Given the description of an element on the screen output the (x, y) to click on. 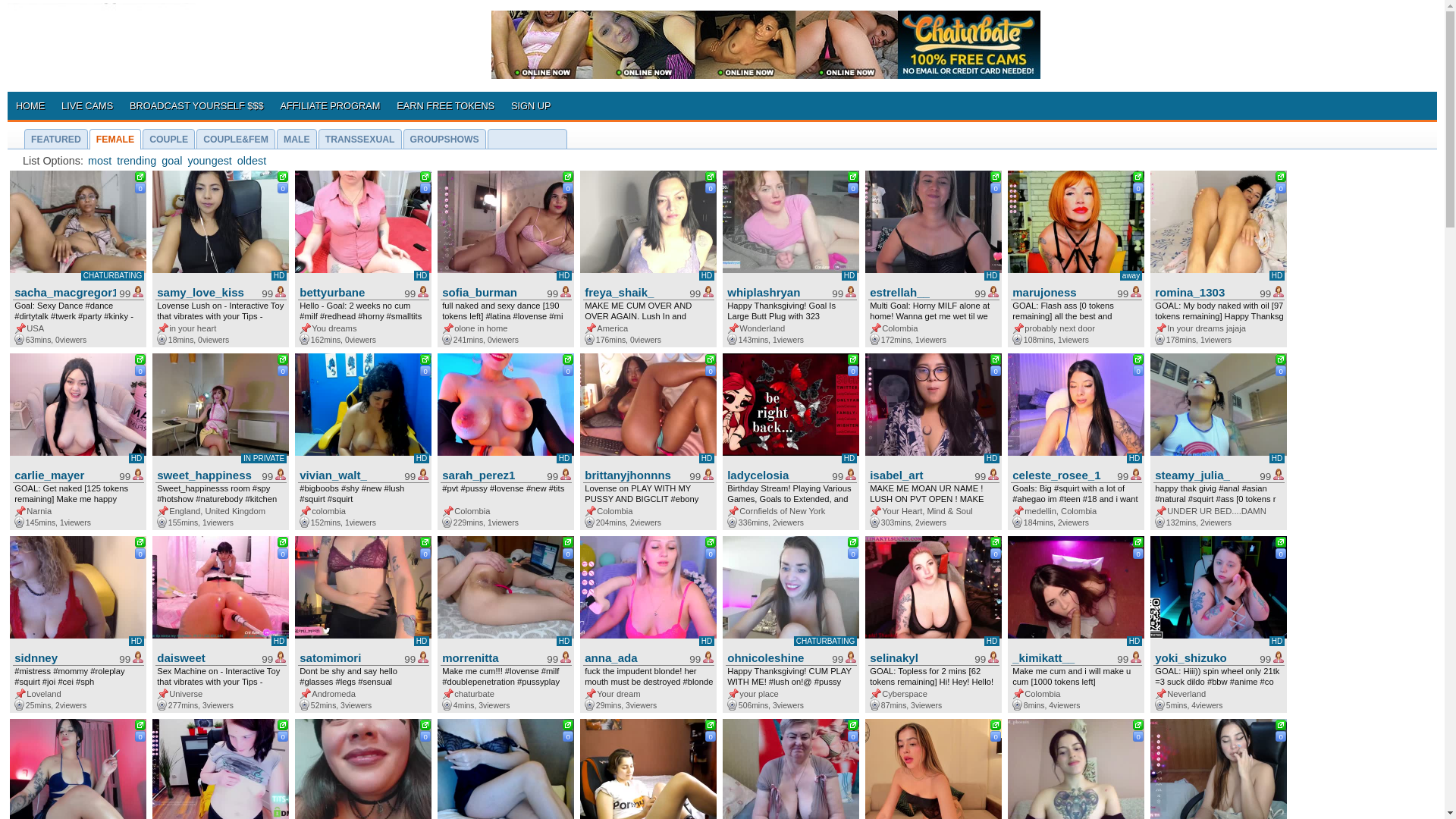
FEMALE Element type: text (115, 137)
morrenitta Element type: text (490, 655)
Open amydavis_ in a popup window Element type: hover (997, 725)
marujoness Element type: text (1060, 290)
     Element type: text (1282, 175)
SIGN UP Element type: text (530, 104)
Open sweet_happiness in a popup window Element type: hover (284, 360)
Open romina_1303 in a popup window Element type: hover (1282, 177)
Open freya_shaik_ in a popup window Element type: hover (711, 177)
LIVE CAMS Element type: text (87, 104)
TRANSSEXUAL Element type: text (359, 137)
Open isabel_art in a popup window Element type: hover (997, 360)
GROUPSHOWS Element type: text (444, 137)
     Element type: text (426, 724)
Open sacha_macgregor1 in a popup window Element type: hover (141, 177)
COUPLE&FEM Element type: text (235, 137)
Open queen4565 in a popup window Element type: hover (711, 725)
     Element type: text (1282, 541)
     Element type: text (141, 541)
AFFILIATE PROGRAM Element type: text (330, 104)
Open _alice_d in a popup window Element type: hover (141, 725)
satomimori Element type: text (347, 655)
Open bettyurbane in a popup window Element type: hover (426, 177)
Open marujoness in a popup window Element type: hover (1139, 177)
COUPLE Element type: text (168, 137)
     Element type: text (141, 724)
Open _kimikatt__ in a popup window Element type: hover (1139, 542)
isabel_art Element type: text (918, 473)
freya_shaik_ Element type: text (633, 290)
Open carlie_mayer in a popup window Element type: hover (141, 360)
Open phoenixx_x in a popup window Element type: hover (1139, 725)
FEATURED Element type: text (55, 137)
ladycelosia Element type: text (775, 473)
     Element type: text (284, 724)
     Element type: text (854, 175)
     Element type: text (997, 175)
BROADCAST YOURSELF $$$ Element type: text (196, 104)
Open selinakyl in a popup window Element type: hover (997, 542)
     Element type: text (141, 175)
Open brittanyjhonnns in a popup window Element type: hover (711, 360)
selinakyl Element type: text (918, 655)
ohnicoleshine Element type: text (775, 655)
     Element type: text (426, 175)
Open celeste_rosee_1 in a popup window Element type: hover (1139, 360)
     Element type: text (711, 358)
Open ladycelosia in a popup window Element type: hover (854, 360)
sweet_happiness Element type: text (205, 473)
Open lady_sexyandbeauty in a popup window Element type: hover (569, 725)
youngest Element type: text (209, 159)
     Element type: text (426, 541)
sofia_burman Element type: text (490, 290)
_kimikatt__ Element type: text (1060, 655)
     Element type: text (284, 175)
EARN FREE TOKENS Element type: text (445, 104)
goal Element type: text (171, 159)
     Element type: text (711, 175)
yoki_shizuko Element type: text (1203, 655)
     Element type: text (1282, 724)
sarah_perez1 Element type: text (490, 473)
romina_1303 Element type: text (1203, 290)
     Element type: text (569, 724)
     Element type: text (569, 541)
Open sandra_lys in a popup window Element type: hover (284, 725)
whiplashryan Element type: text (775, 290)
Open sofia_burman in a popup window Element type: hover (569, 177)
     Element type: text (711, 541)
     Element type: text (1139, 724)
Open morrenitta in a popup window Element type: hover (569, 542)
Open honestysummers in a popup window Element type: hover (854, 725)
Open samy_love_kiss in a popup window Element type: hover (284, 177)
     Element type: text (426, 358)
Open vivian_walt_ in a popup window Element type: hover (426, 360)
     Element type: text (569, 175)
oldest Element type: text (251, 159)
     Element type: text (284, 358)
steamy_julia_ Element type: text (1203, 473)
HOME Element type: text (30, 104)
trending Element type: text (136, 159)
     Element type: text (284, 541)
     Element type: text (711, 724)
most Element type: text (99, 159)
Open sidnney in a popup window Element type: hover (141, 542)
Open whiplashryan in a popup window Element type: hover (854, 177)
     Element type: text (854, 724)
     Element type: text (1139, 541)
celeste_rosee_1 Element type: text (1060, 473)
     Element type: text (854, 358)
daisweet Element type: text (205, 655)
sacha_macgregor1 Element type: text (62, 290)
Open miss_evoleth2 in a popup window Element type: hover (426, 725)
     Element type: text (997, 358)
     Element type: text (1139, 175)
     Element type: text (997, 541)
Open daisweet in a popup window Element type: hover (284, 542)
Open annadolll in a popup window Element type: hover (1282, 725)
Open sarah_perez1 in a popup window Element type: hover (569, 360)
sidnney Element type: text (62, 655)
MALE Element type: text (296, 137)
Open ohnicoleshine in a popup window Element type: hover (854, 542)
Open anna_ada in a popup window Element type: hover (711, 542)
     Element type: text (1139, 358)
     Element type: text (997, 724)
estrellah__ Element type: text (918, 290)
     Element type: text (1282, 358)
vivian_walt_ Element type: text (347, 473)
anna_ada Element type: text (633, 655)
Open satomimori in a popup window Element type: hover (426, 542)
     Element type: text (854, 541)
Open estrellah__ in a popup window Element type: hover (997, 177)
Open yoki_shizuko in a popup window Element type: hover (1282, 542)
     Element type: text (569, 358)
carlie_mayer Element type: text (62, 473)
Open steamy_julia_ in a popup window Element type: hover (1282, 360)
     Element type: text (141, 358)
samy_love_kiss Element type: text (205, 290)
bettyurbane Element type: text (347, 290)
brittanyjhonnns Element type: text (633, 473)
